Given the description of an element on the screen output the (x, y) to click on. 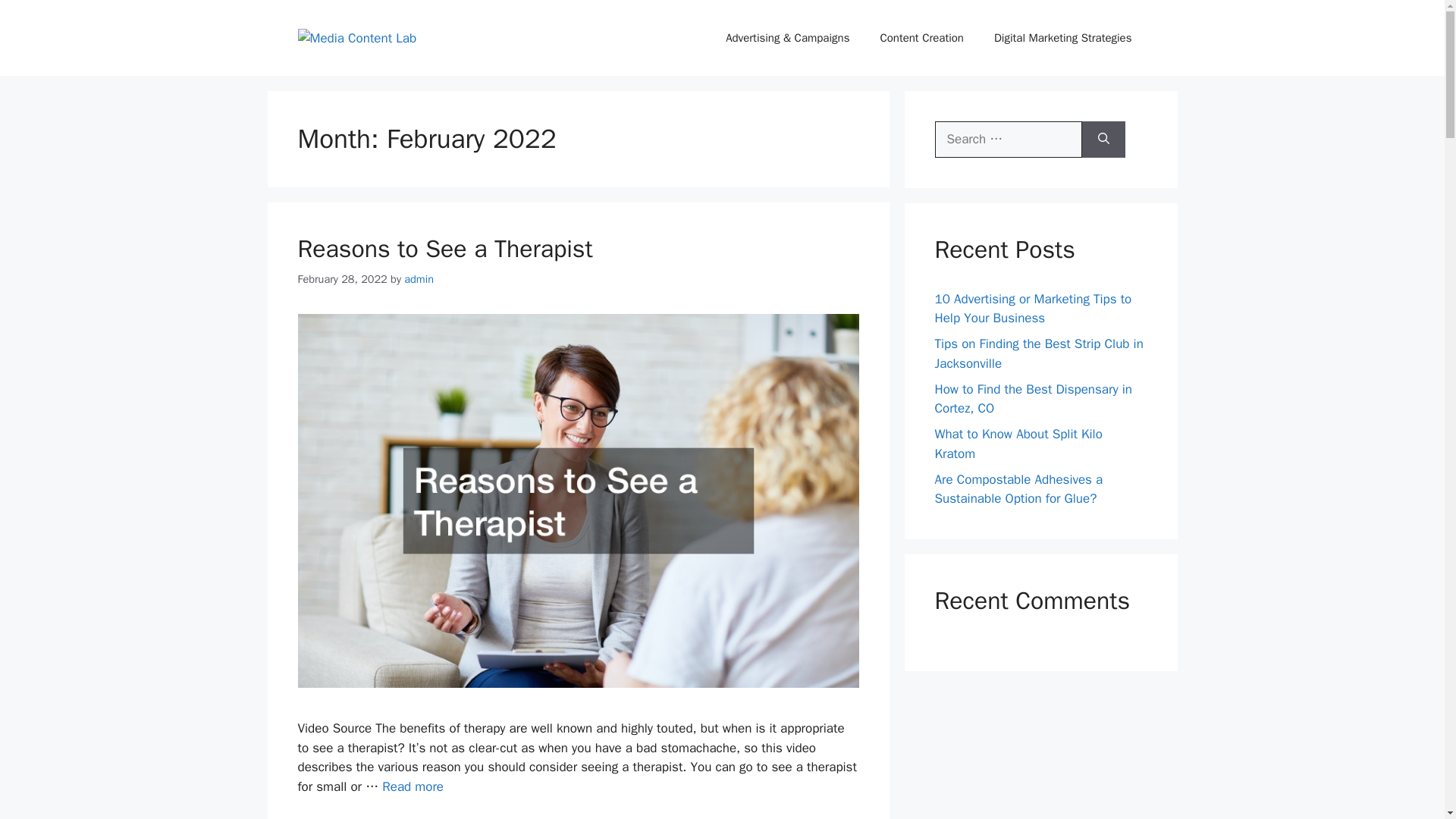
Read more (412, 786)
View all posts by admin (418, 278)
Content Creation (921, 37)
Reasons to See a Therapist (444, 248)
Digital Marketing Strategies (1062, 37)
Reasons to See a Therapist (412, 786)
admin (418, 278)
Search for: (1007, 139)
